Given the description of an element on the screen output the (x, y) to click on. 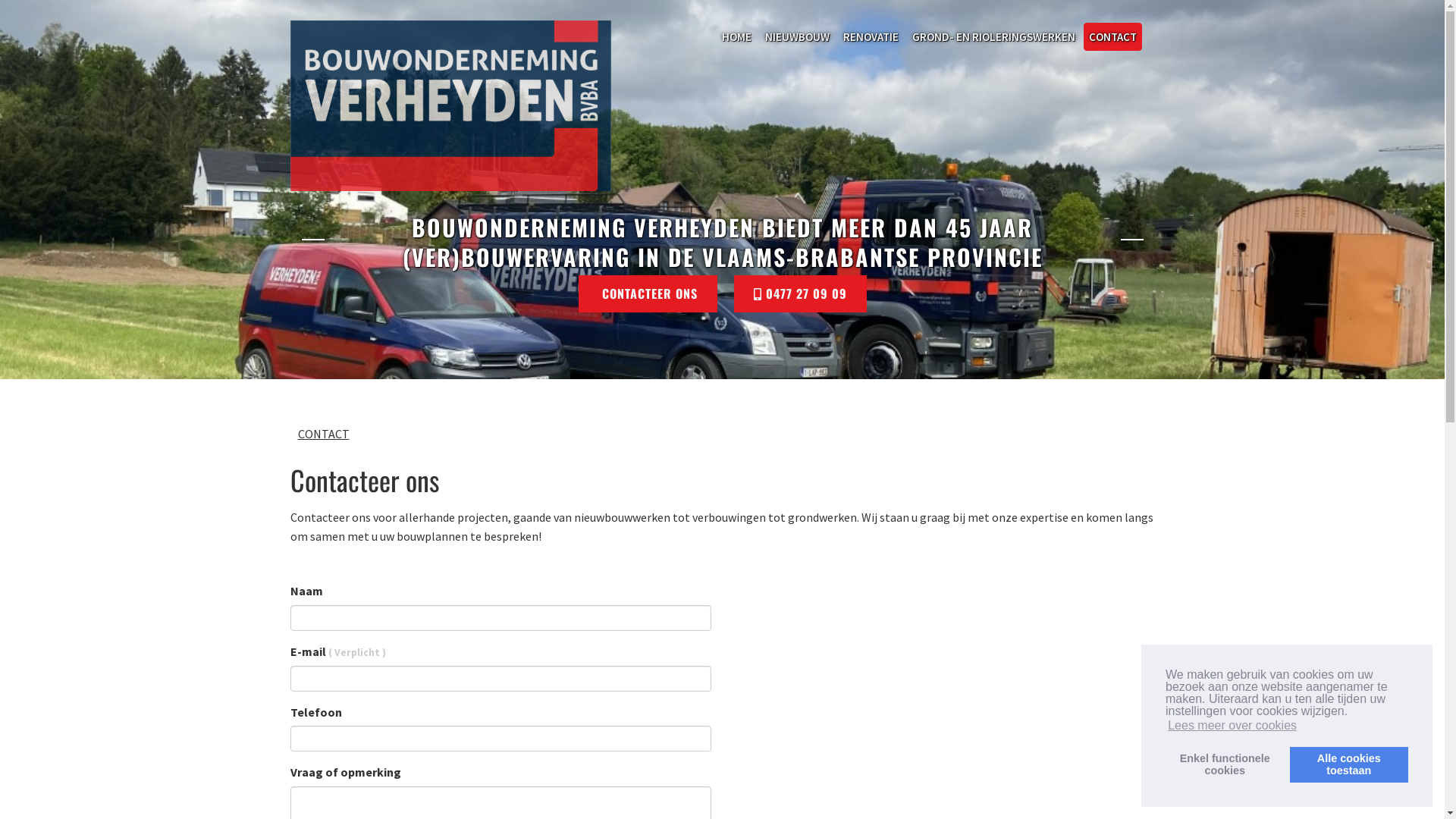
Lees meer over cookies Element type: text (1232, 725)
Enkel functionele
cookies Element type: text (1224, 764)
RENOVATIE Element type: text (870, 36)
NIEUWBOUW Element type: text (796, 36)
Alle cookies
toestaan Element type: text (1348, 764)
GROND- EN RIOLERINGSWERKEN Element type: text (993, 36)
CONTACT Element type: text (322, 433)
HOME Element type: text (735, 36)
 0477 27 09 09 Element type: text (800, 293)
CONTACT Element type: text (1111, 36)
 CONTACTEER ONS Element type: text (646, 293)
